Given the description of an element on the screen output the (x, y) to click on. 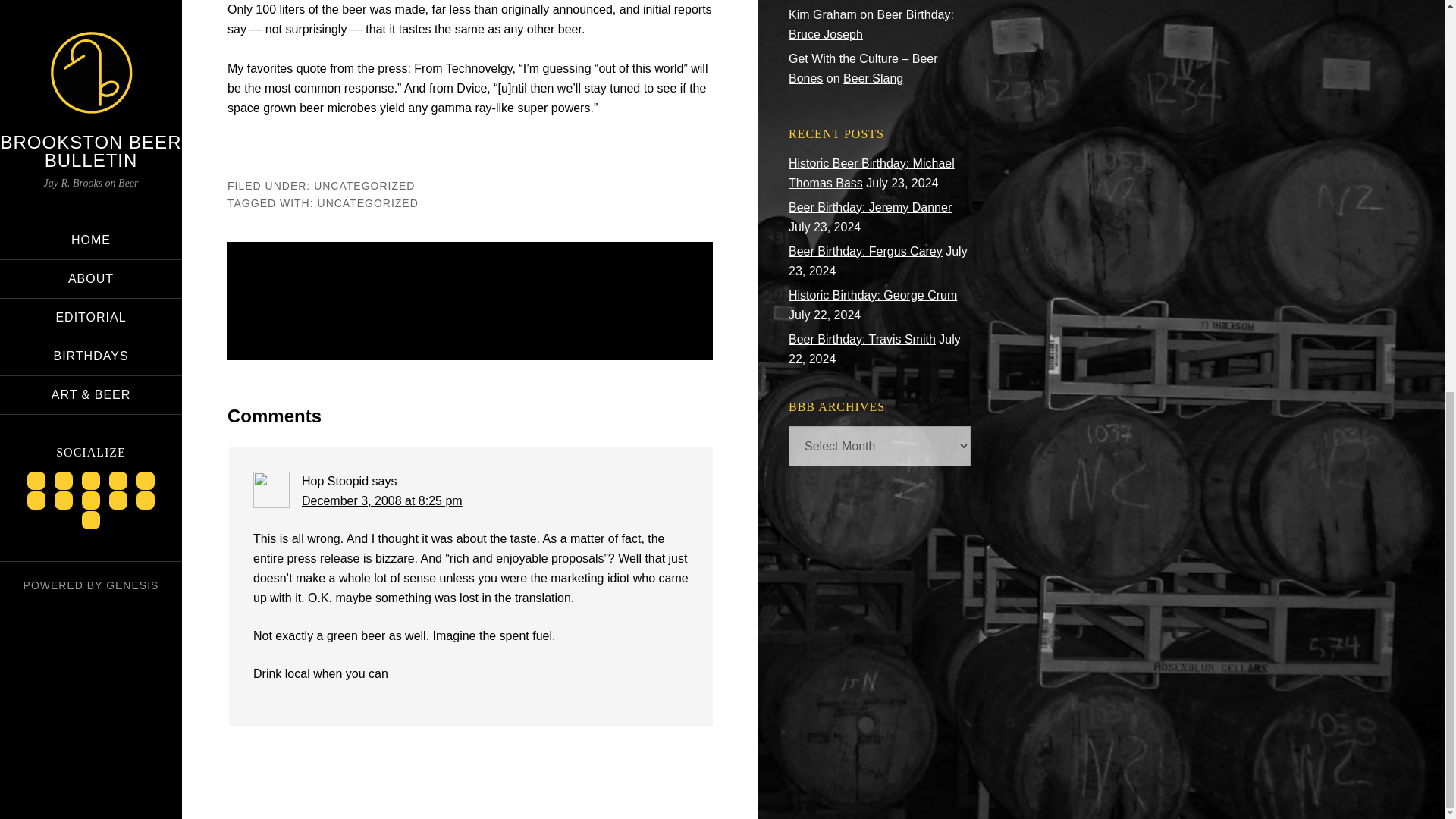
UNCATEGORIZED (368, 202)
December 3, 2008 at 8:25 pm (382, 500)
UNCATEGORIZED (364, 185)
Beer Birthday: Bruce Joseph (871, 24)
Technovelgy (478, 68)
